Given the description of an element on the screen output the (x, y) to click on. 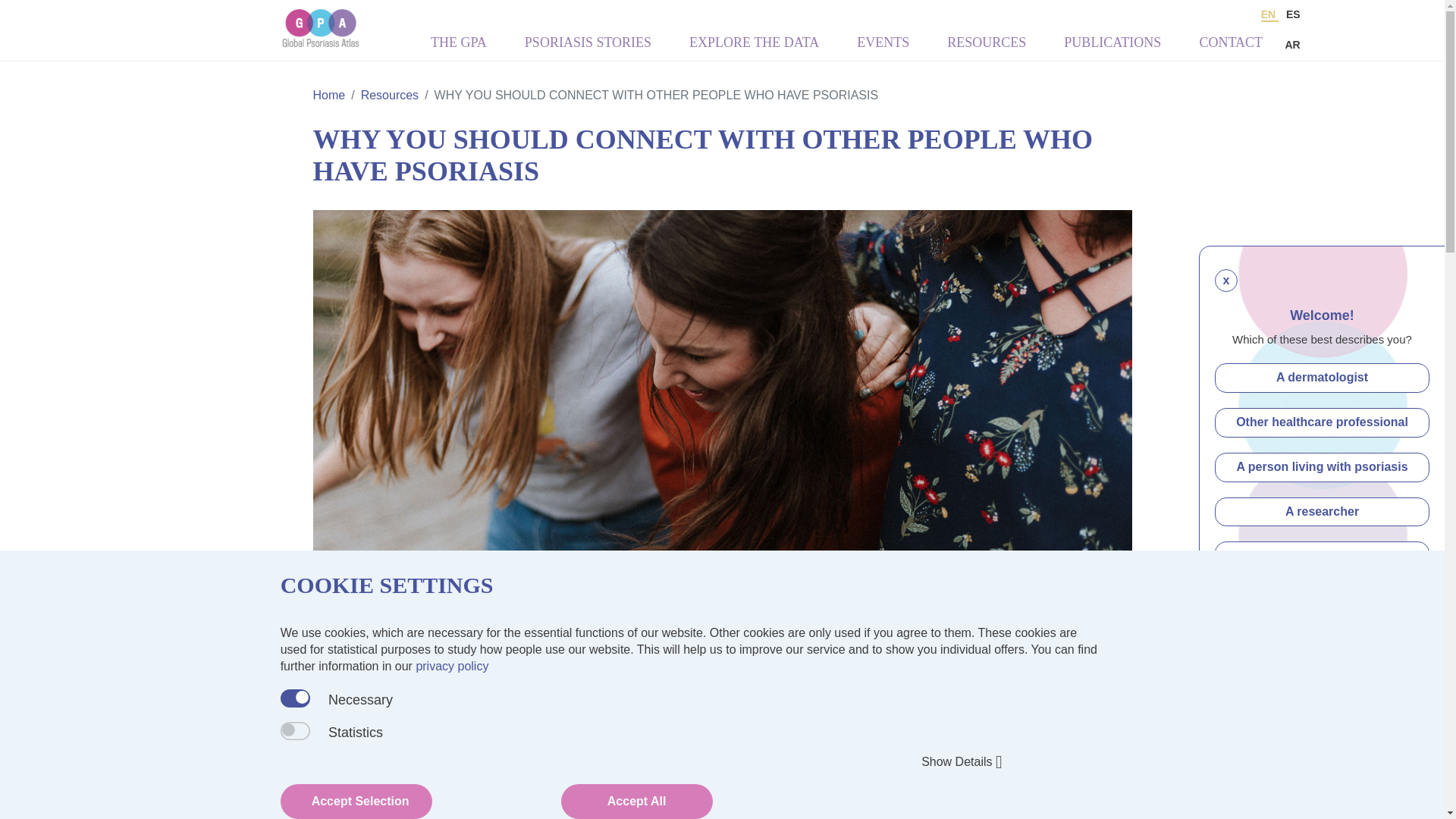
RESOURCES (986, 45)
THE GPA (458, 45)
EXPLORE THE DATA (753, 45)
AR (1292, 44)
CONTACT (1230, 45)
PSORIASIS STORIES (587, 45)
PUBLICATIONS (1112, 45)
ES (1292, 14)
EVENTS (882, 45)
EN (1269, 15)
